Given the description of an element on the screen output the (x, y) to click on. 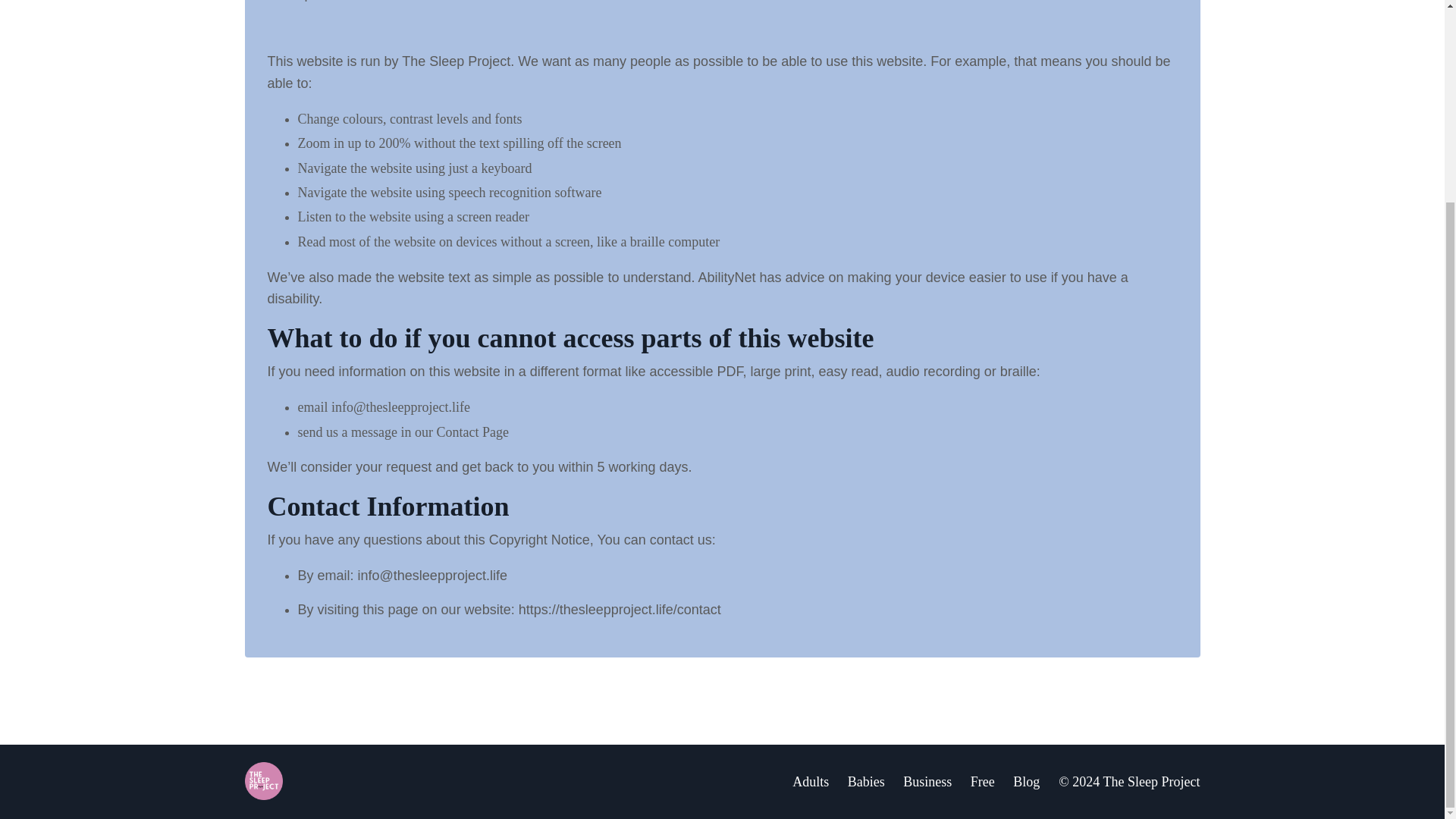
Blog (1026, 781)
Contact Page (471, 431)
Babies (866, 781)
Free (982, 781)
Adults (810, 781)
Business (927, 781)
AbilityNet (726, 277)
